Given the description of an element on the screen output the (x, y) to click on. 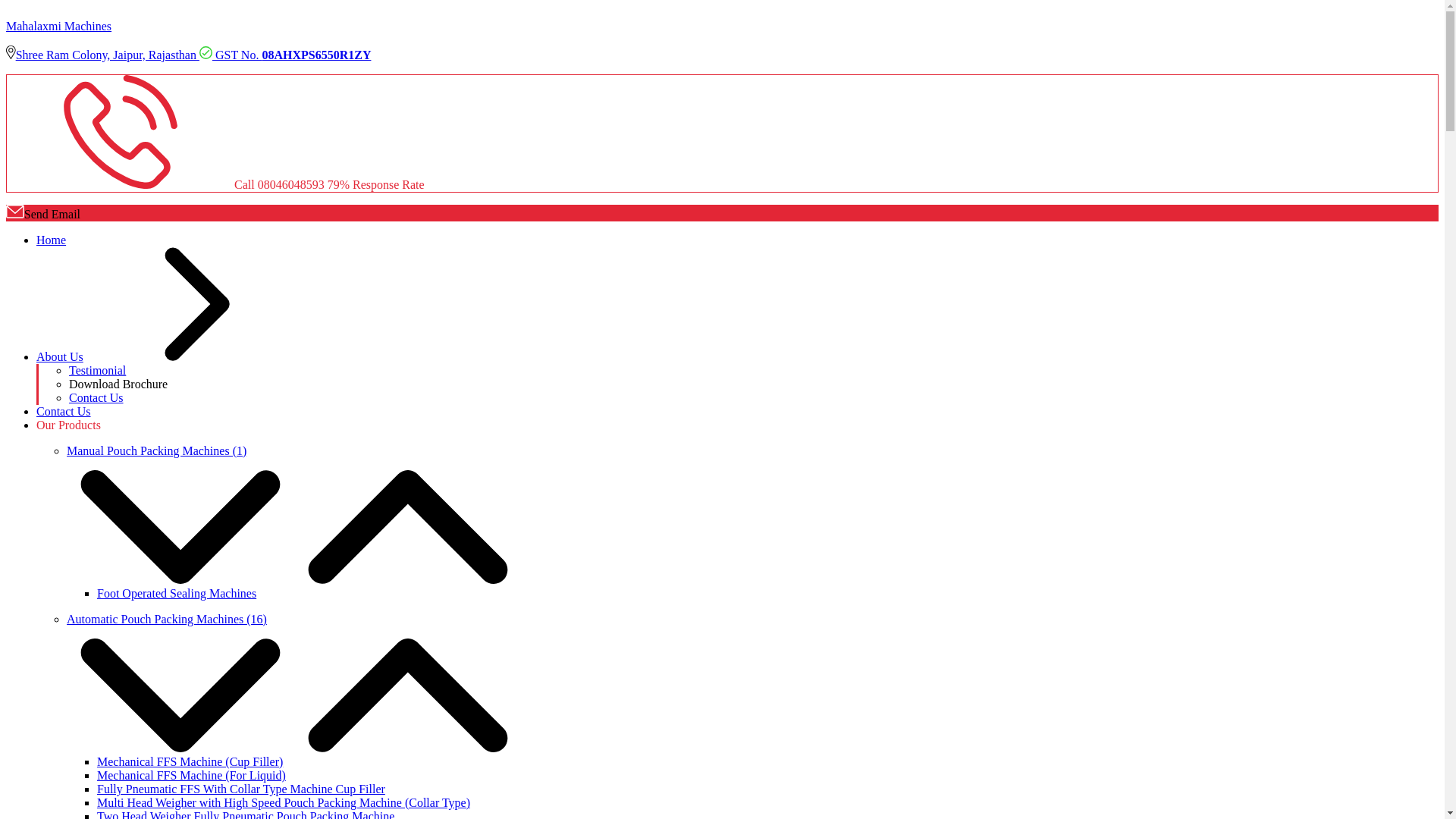
Testimonial (96, 369)
Our Products (68, 424)
Home (50, 239)
Contact Us (95, 397)
Fully Pneumatic FFS With Collar Type Machine Cup Filler (241, 788)
Foot Operated Sealing Machines (176, 593)
Two Head Weigher Fully Pneumatic Pouch Packing Machine (245, 814)
Contact Us (63, 410)
About Us (173, 356)
